Given the description of an element on the screen output the (x, y) to click on. 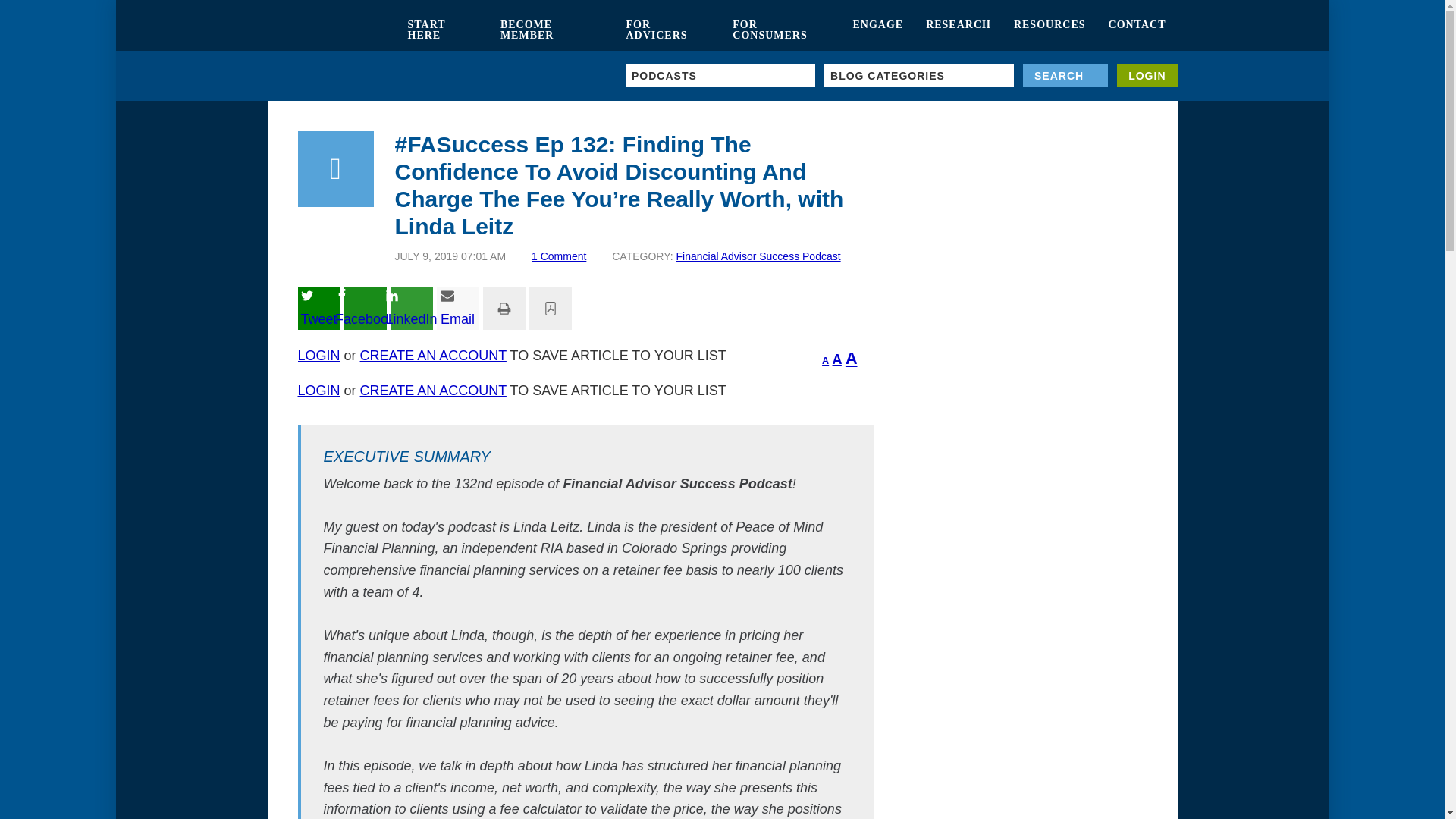
CONTACT (1137, 30)
FOR CONSUMERS (780, 30)
BECOME MEMBER (551, 30)
RESOURCES (1050, 30)
FOR ADVICERS (667, 30)
Share on Twitter (318, 308)
RESEARCH (958, 30)
ENGAGE (877, 30)
Share on LinkedIn (411, 308)
Email (457, 308)
